Given the description of an element on the screen output the (x, y) to click on. 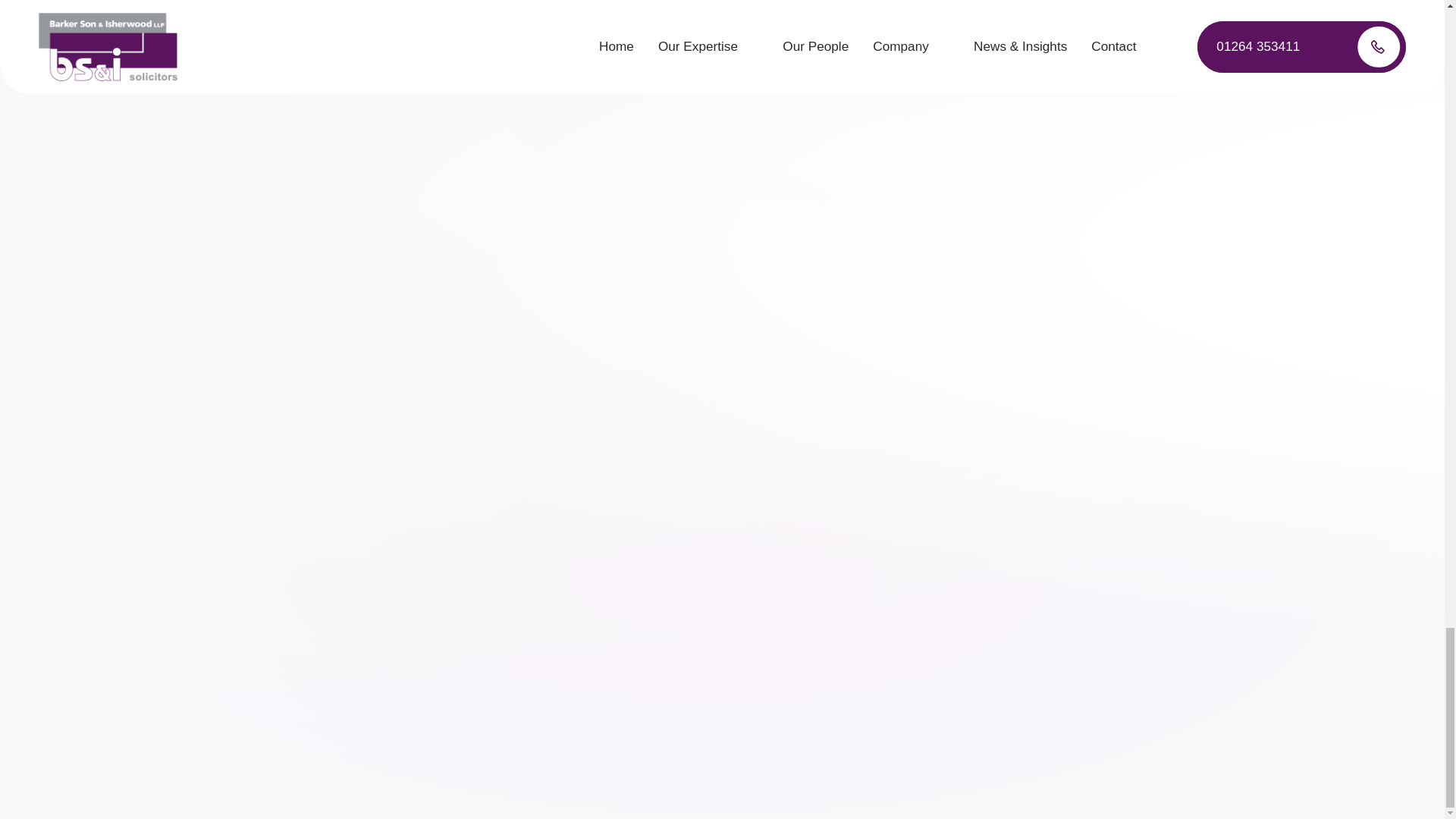
SRA regulation badge (722, 485)
